Given the description of an element on the screen output the (x, y) to click on. 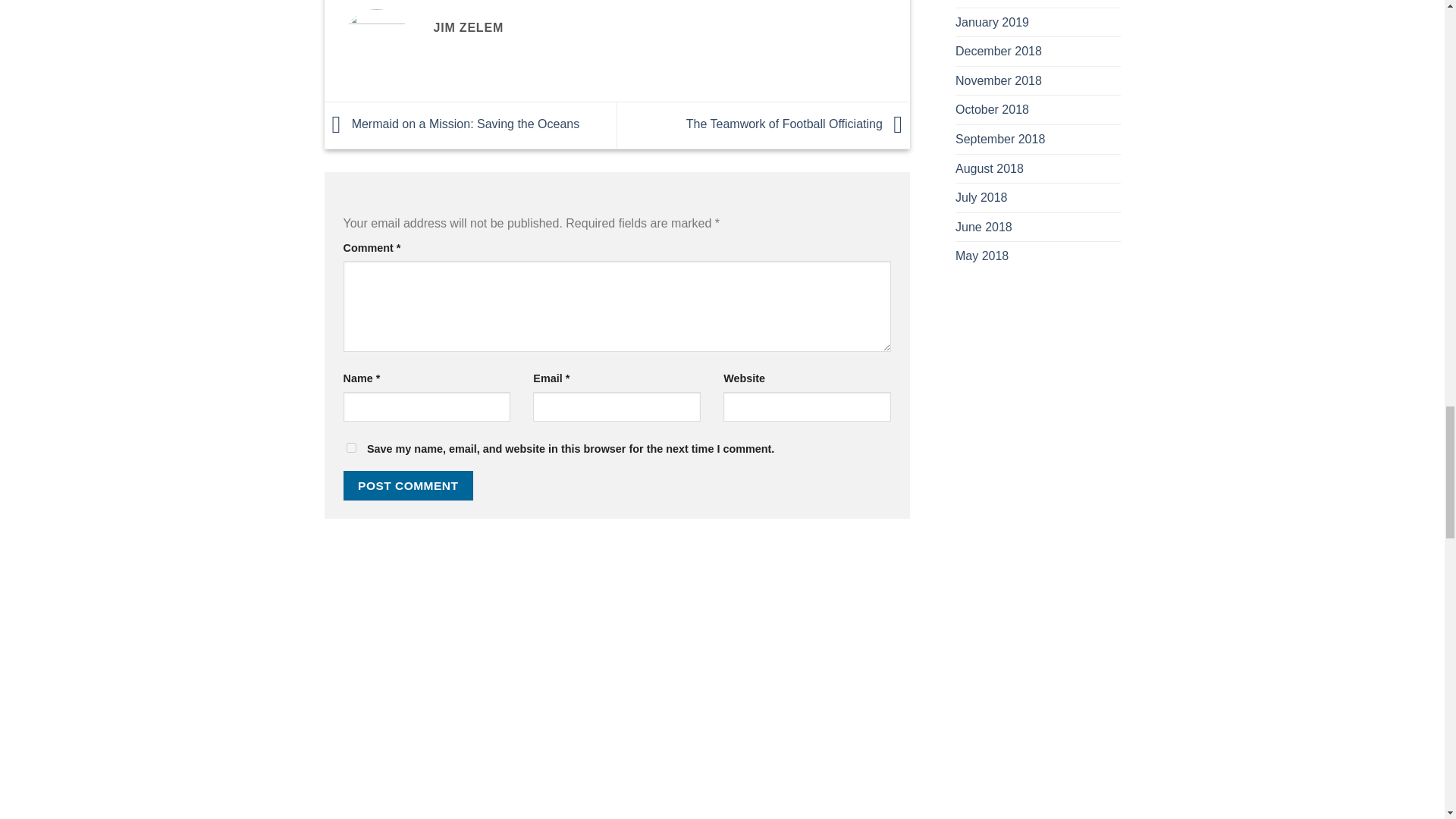
Advertisement (1038, 790)
Post Comment (407, 485)
yes (350, 447)
